Given the description of an element on the screen output the (x, y) to click on. 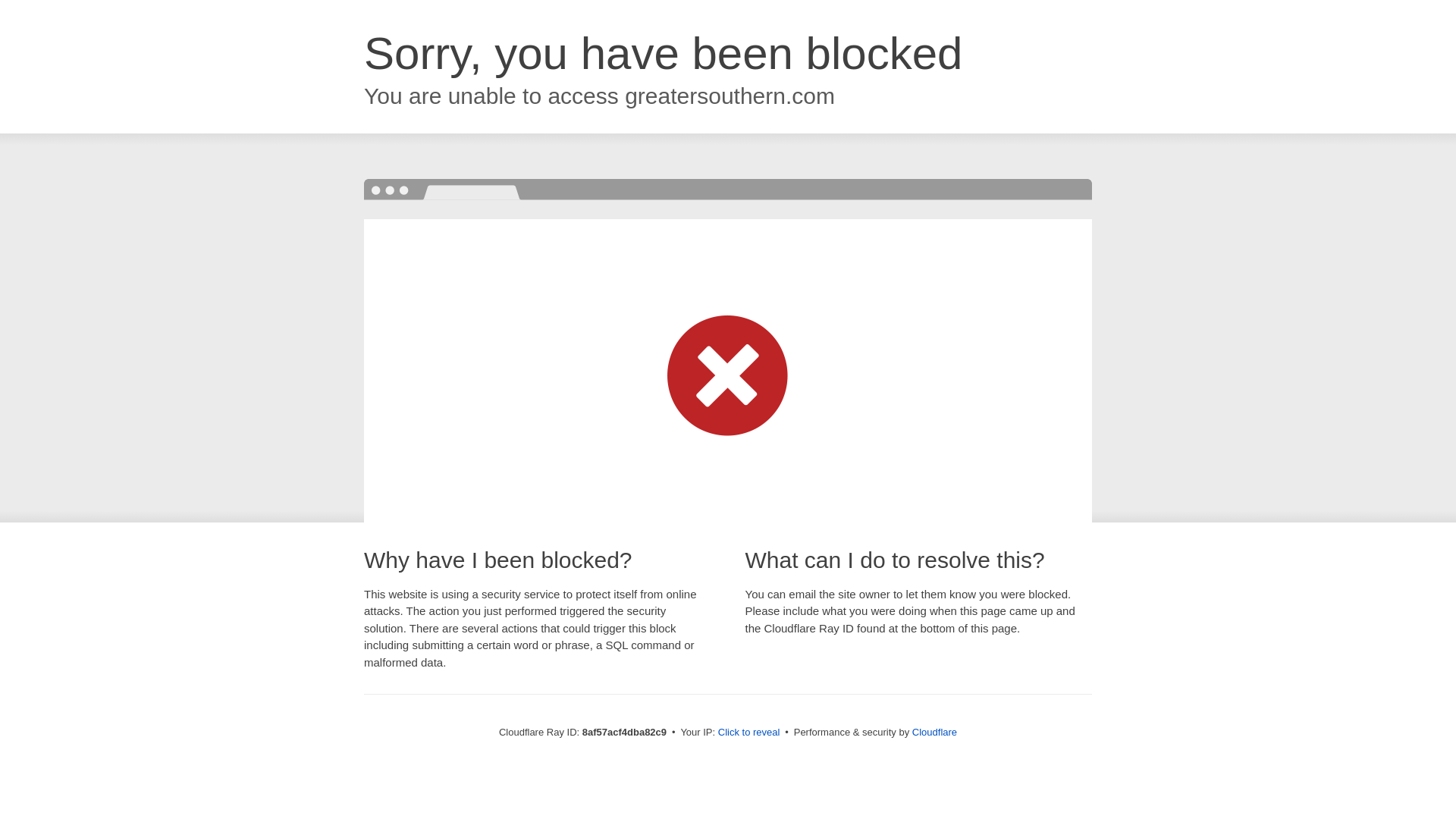
Click to reveal (748, 732)
Cloudflare (934, 731)
